Given the description of an element on the screen output the (x, y) to click on. 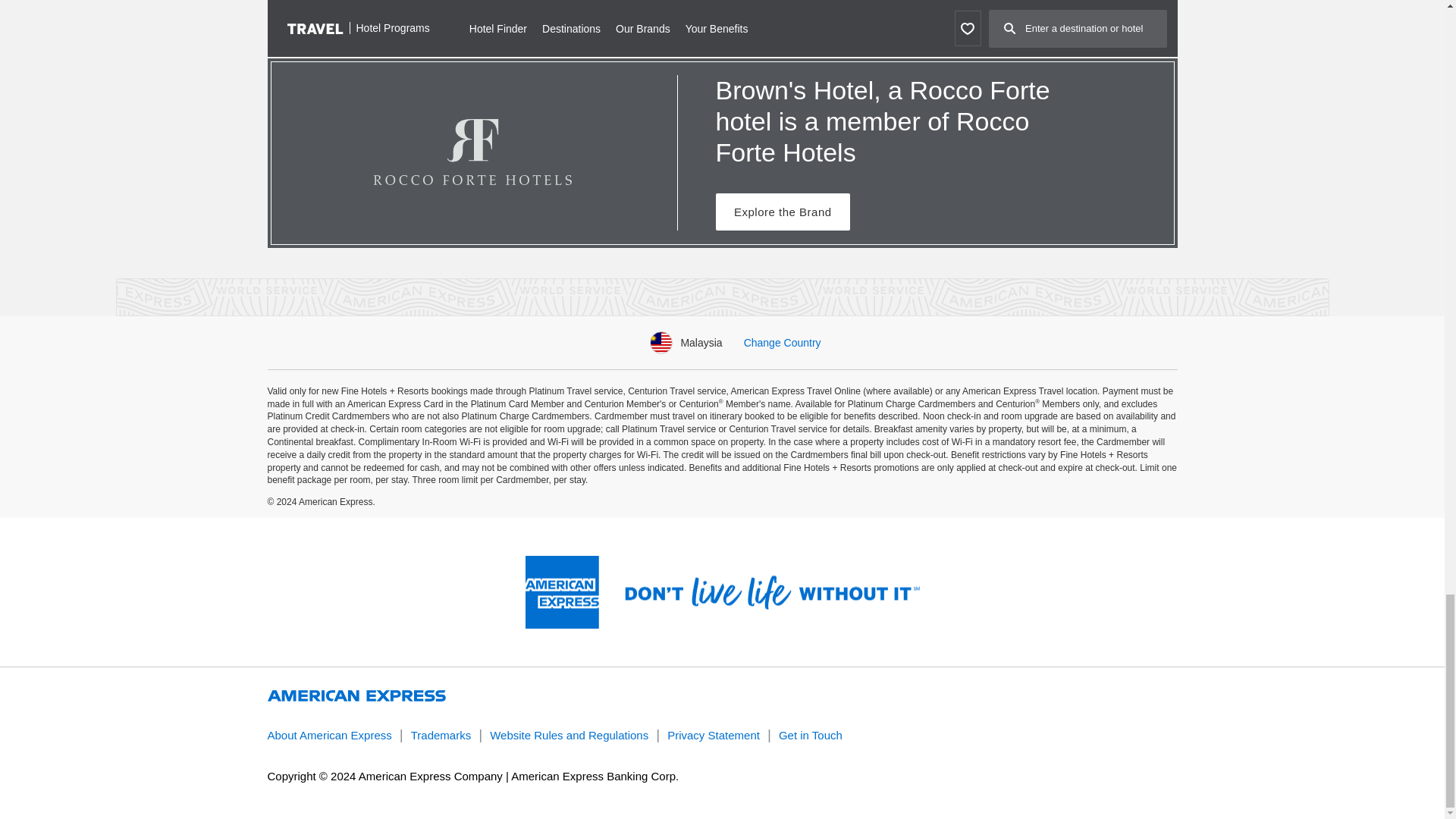
Trademarks (440, 735)
Website Rules and Regulations (568, 735)
About American Express (328, 735)
Privacy Statement (713, 735)
Get in Touch (810, 735)
